Given the description of an element on the screen output the (x, y) to click on. 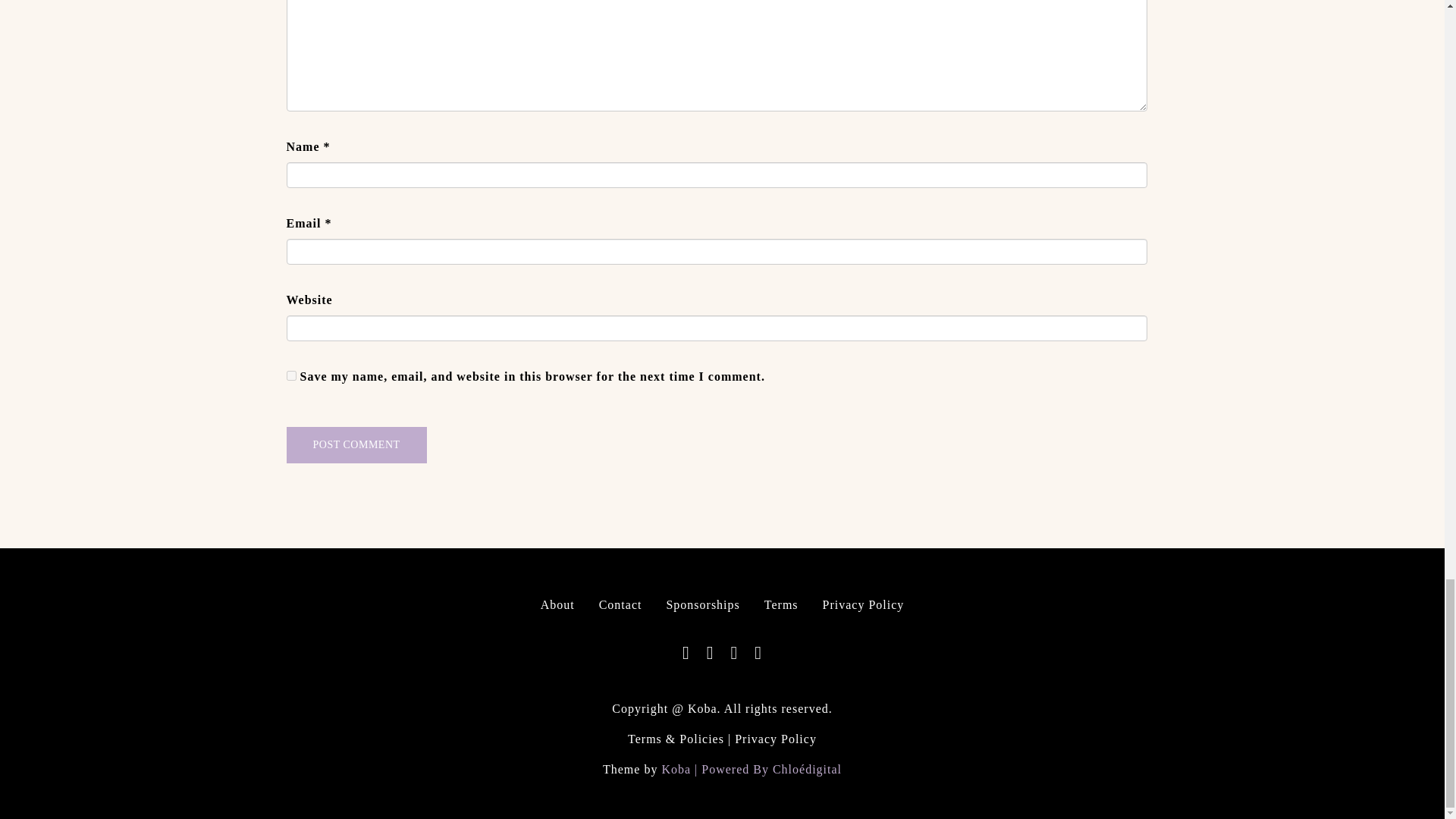
Contact (620, 604)
About (557, 604)
Post Comment (356, 444)
Koba (675, 768)
Privacy Policy (863, 604)
yes (291, 375)
Post Comment (356, 444)
Terms (780, 604)
Sponsorships (702, 604)
